Given the description of an element on the screen output the (x, y) to click on. 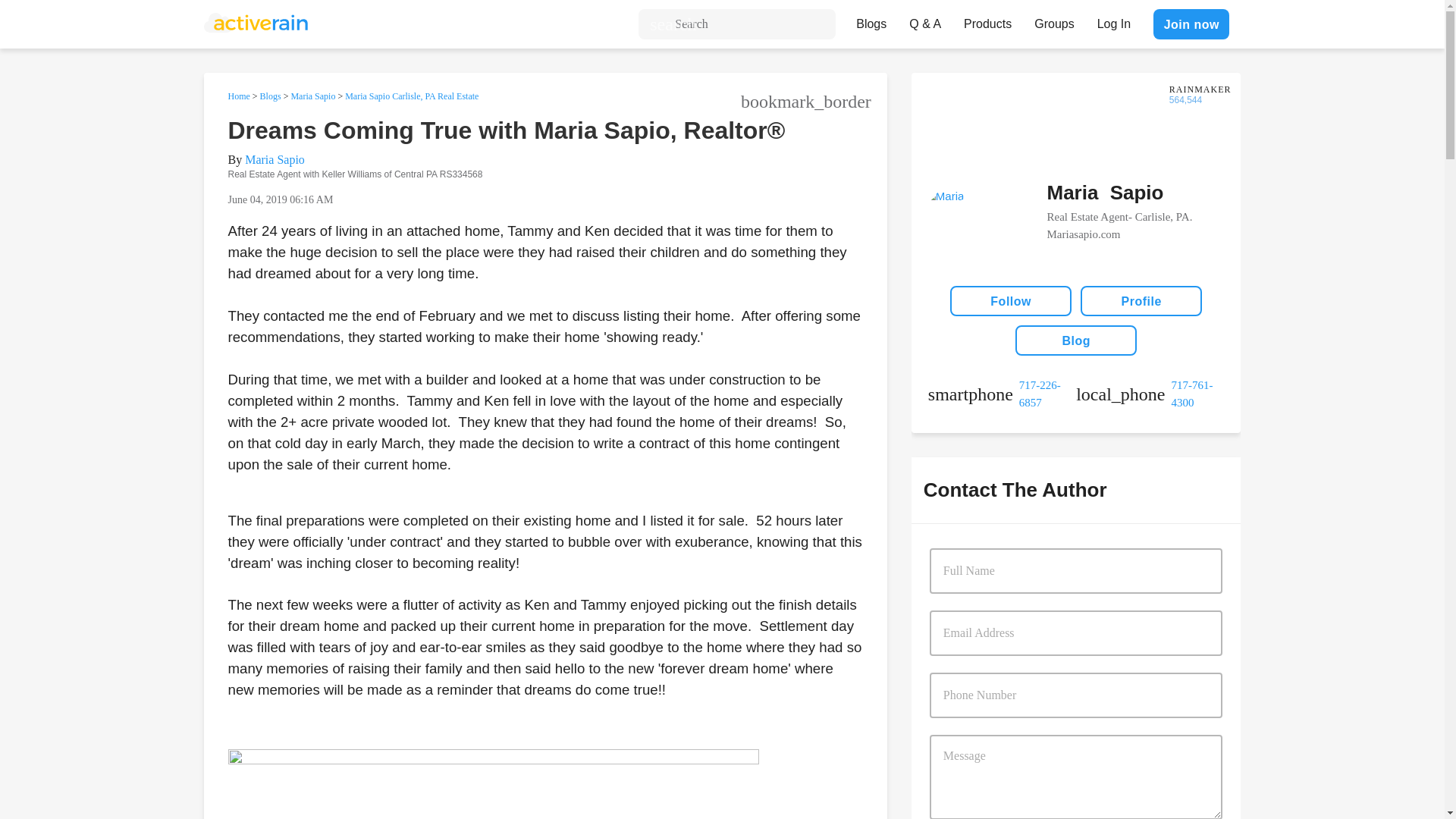
Blogs (270, 95)
Maria Sapio Carlisle, PA Real Estate (412, 95)
Maria Sapio (274, 159)
Groups (1053, 19)
cell (1001, 393)
Log In (1113, 19)
work (1149, 393)
Maria Sapio (311, 95)
Join now (1190, 24)
Home (237, 95)
